Given the description of an element on the screen output the (x, y) to click on. 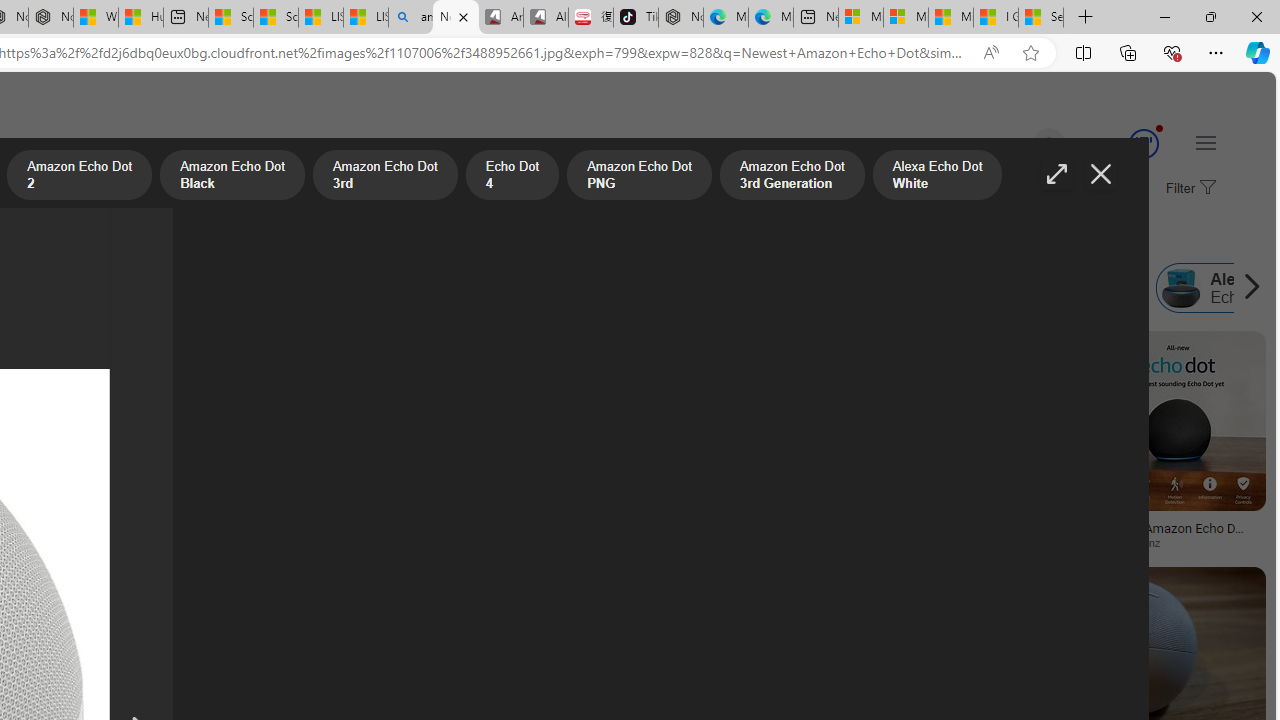
pbtech.co.nz (1178, 542)
Settings and quick links (1205, 142)
Alexa Echo Dot White (678, 287)
Review: SkyBell HD (111, 541)
Newest Amazon Echo Dot - Search Images (455, 17)
Amazon Echo Dot PNG (186, 287)
Full screen (1055, 173)
pbtech.co.nz (1136, 541)
